Given the description of an element on the screen output the (x, y) to click on. 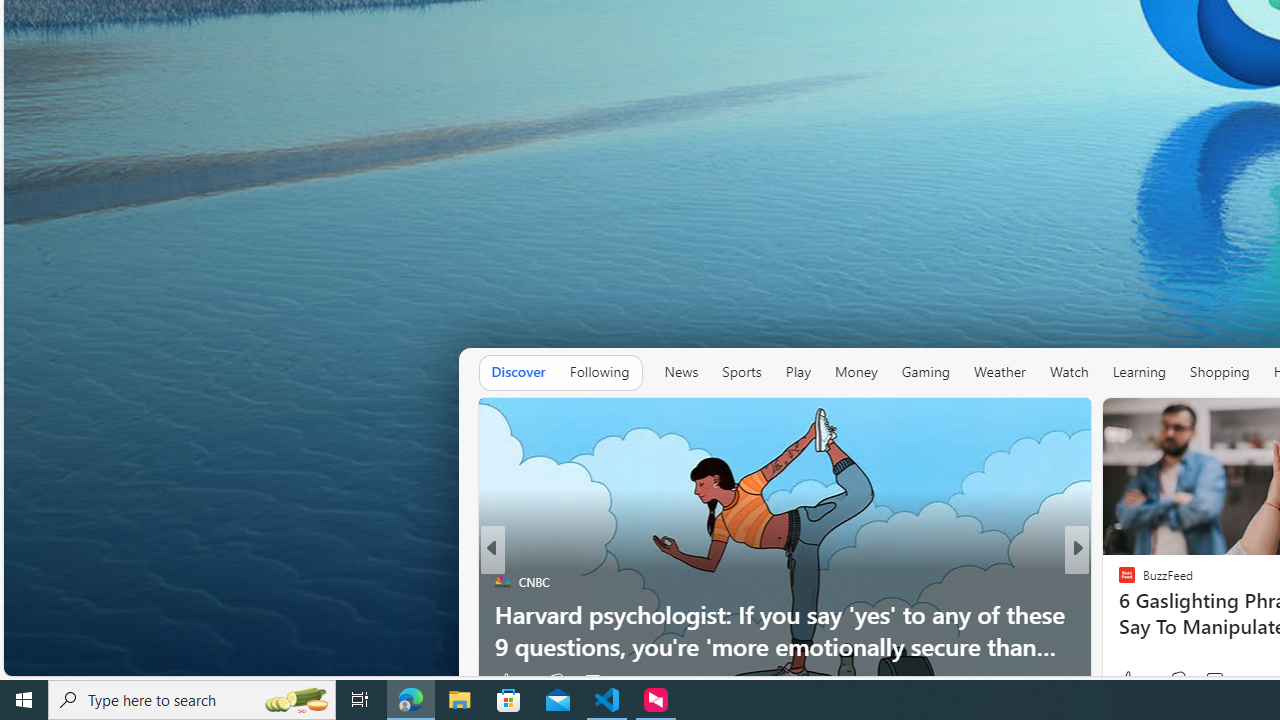
FOX News (1117, 581)
Shopping (1219, 371)
Sports (742, 372)
883 Like (1132, 681)
1k Like (1134, 680)
Reader's Digest (1117, 614)
View comments 15 Comment (1217, 681)
View comments 2 Comment (1220, 681)
Learning (1138, 372)
173 Like (1132, 681)
Weather (1000, 372)
View comments 8 Comment (1220, 681)
Watch (1068, 372)
